Given the description of an element on the screen output the (x, y) to click on. 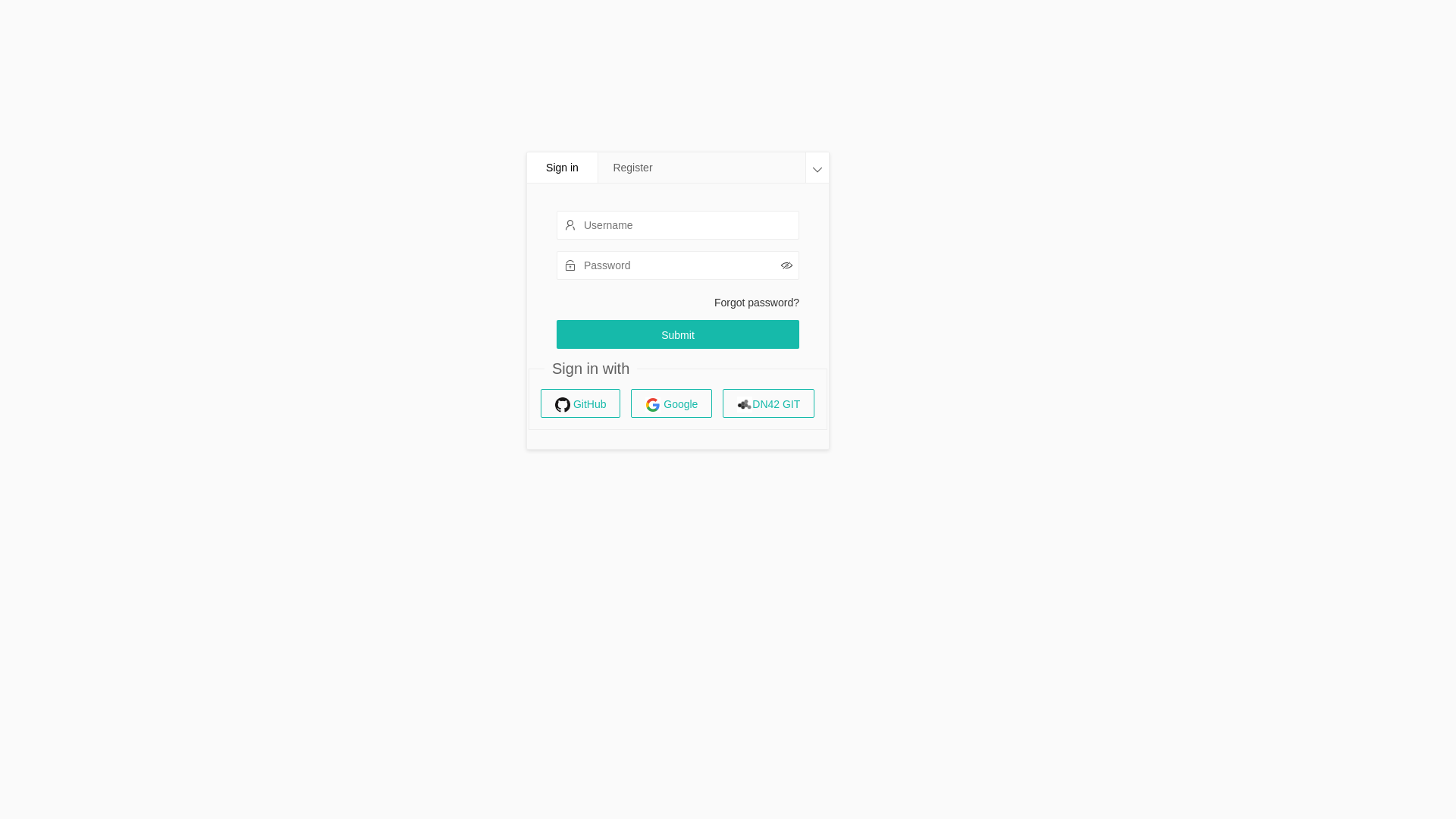
Google Element type: text (671, 402)
Submit Element type: text (677, 334)
DN42 GIT Element type: text (768, 402)
GitHub Element type: text (580, 402)
Forgot password? Element type: text (756, 301)
